Given the description of an element on the screen output the (x, y) to click on. 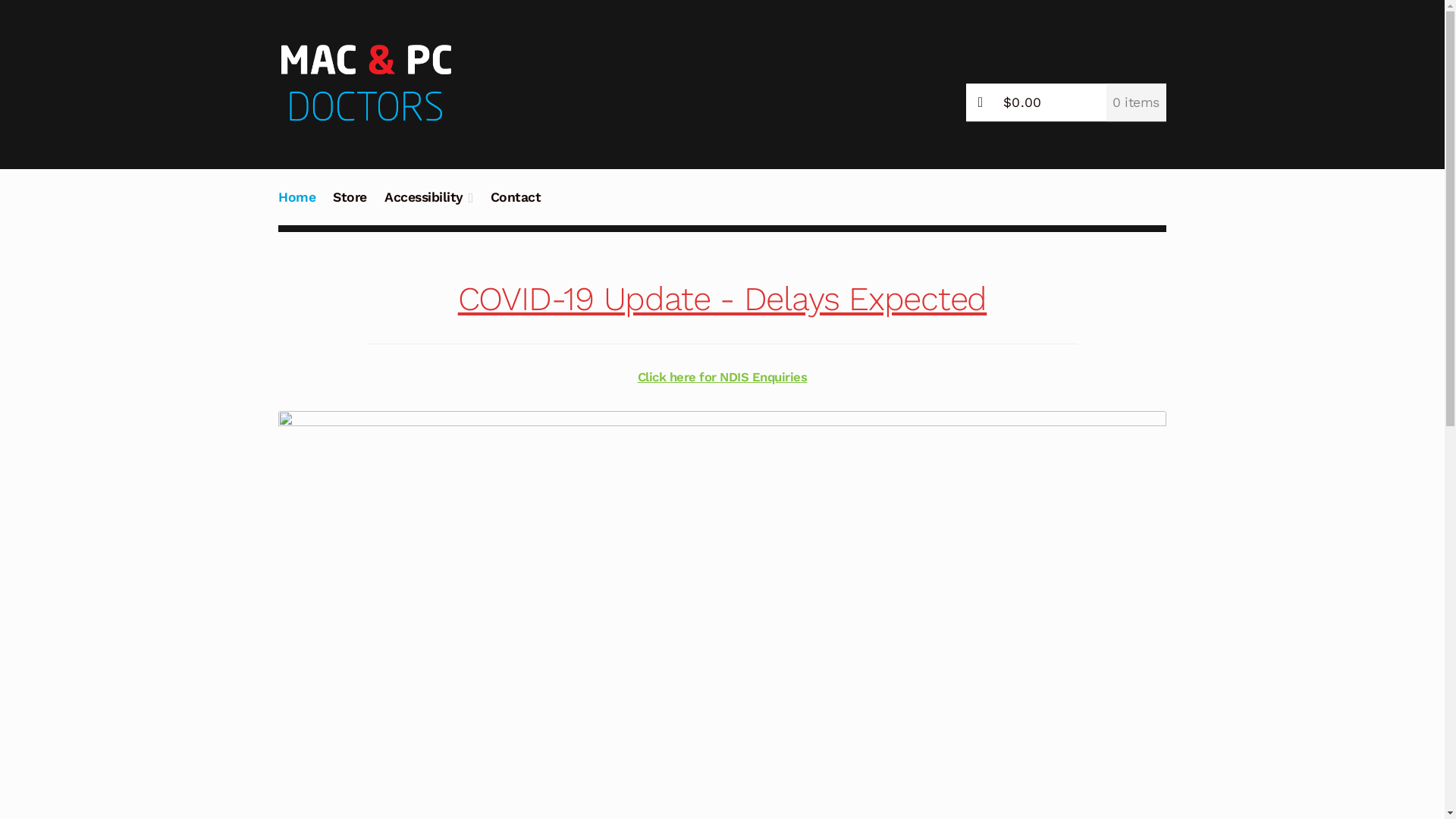
$0.00
0 items Element type: text (1066, 103)
Click here for NDIS Enquiries Element type: text (722, 376)
Store Element type: text (349, 205)
Accessibility Element type: text (428, 205)
Contact Element type: text (515, 205)
COVID-19 Update - Delays Expected Element type: text (722, 298)
Home Element type: text (297, 205)
